Given the description of an element on the screen output the (x, y) to click on. 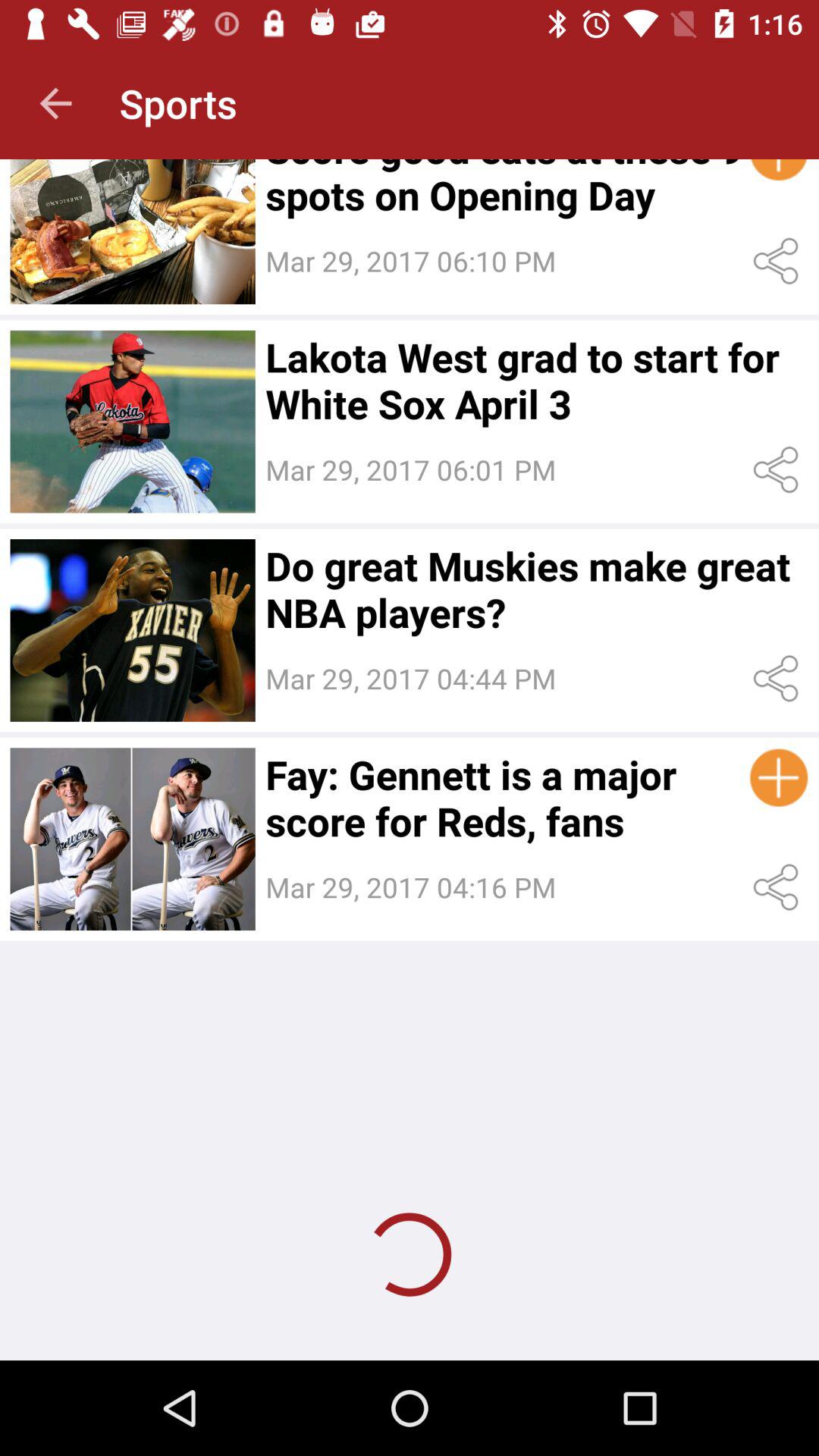
share post (778, 887)
